Given the description of an element on the screen output the (x, y) to click on. 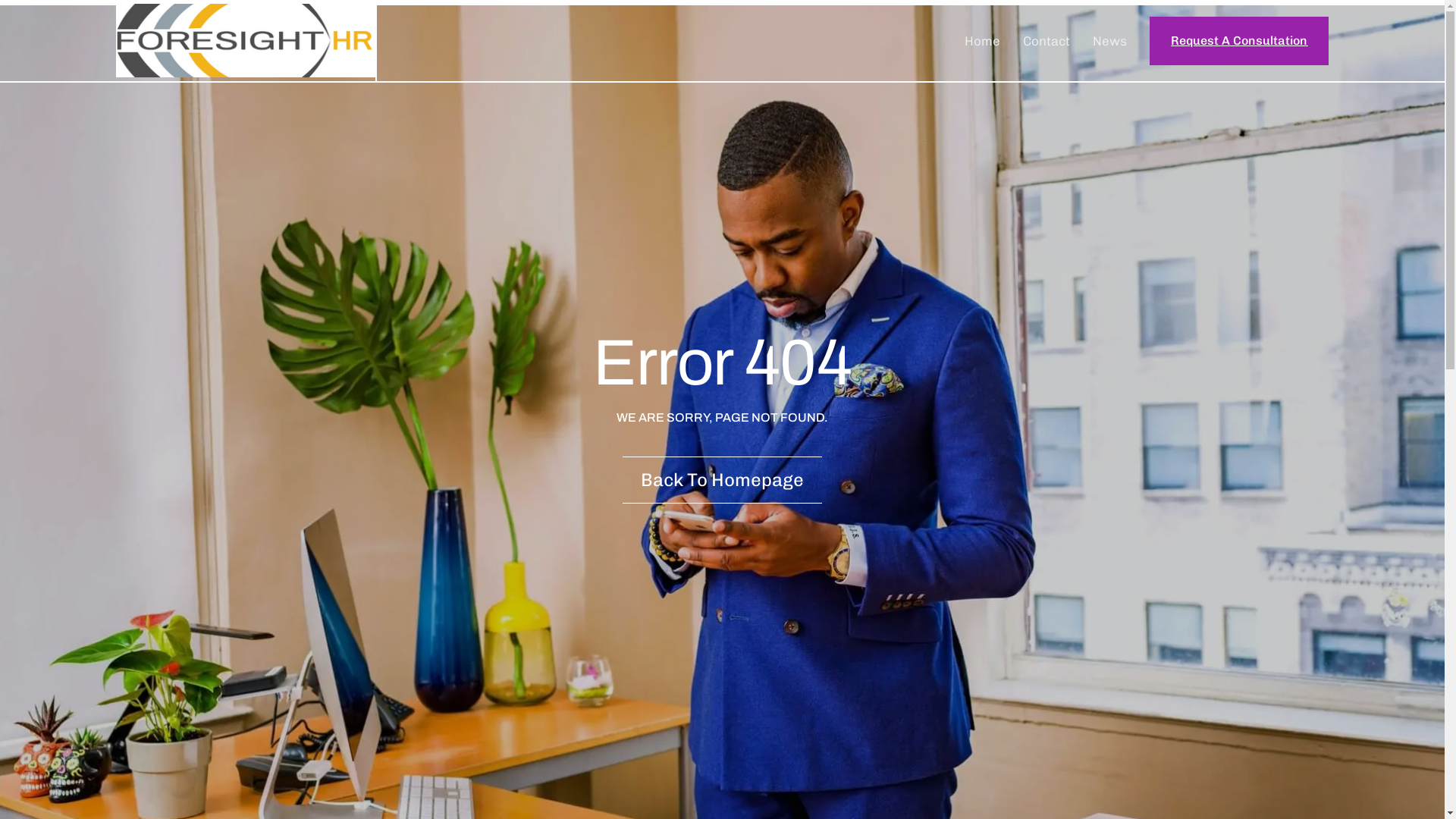
Back To Homepage Element type: text (722, 479)
Request A Consultation Element type: text (1238, 40)
Contact Element type: text (1046, 39)
News Element type: text (1109, 39)
Home Element type: text (982, 39)
